Given the description of an element on the screen output the (x, y) to click on. 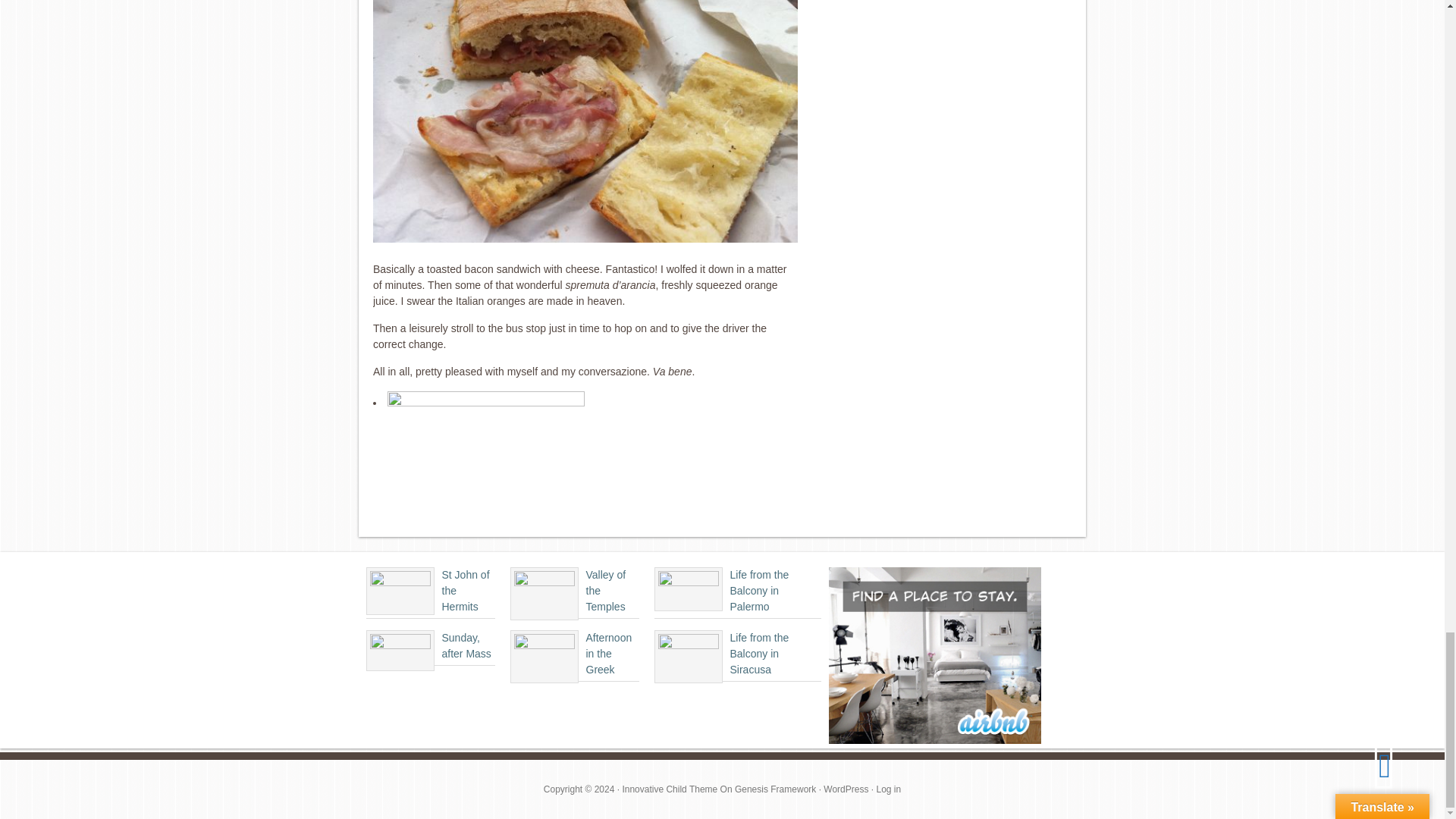
Sunday, after Mass (465, 645)
lunch-2 (584, 121)
Valley of the Temples (605, 590)
Afternoon in the Greek (608, 653)
St John of the Hermits (465, 590)
